Given the description of an element on the screen output the (x, y) to click on. 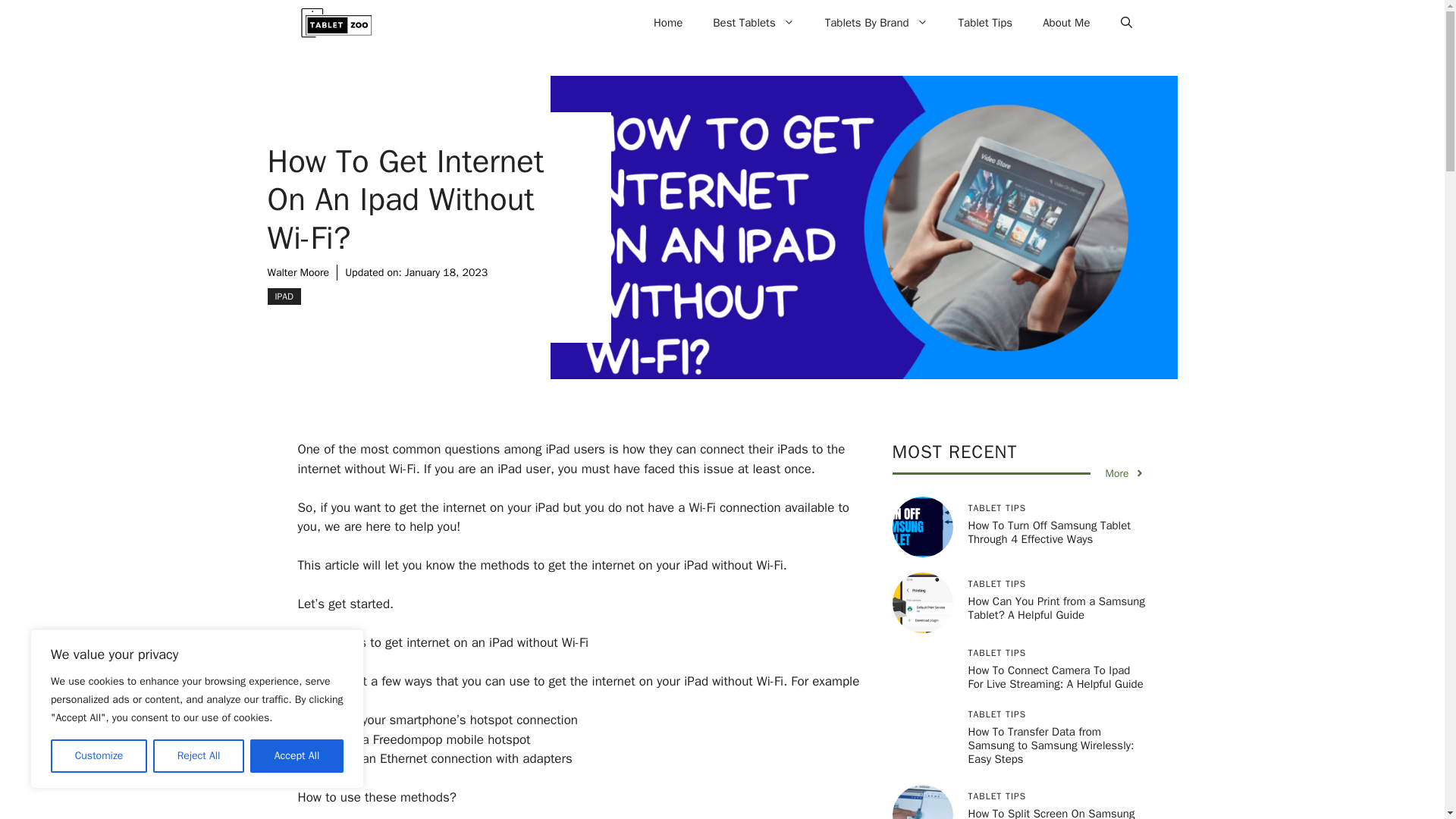
About Me (1066, 22)
Accept All (296, 756)
Best Tablets (753, 22)
Tablet Zoo (335, 22)
Tablets By Brand (876, 22)
Reject All (198, 756)
Customize (98, 756)
Tablet Tips (985, 22)
Walter Moore (297, 272)
Home (668, 22)
IPAD (282, 296)
